Given the description of an element on the screen output the (x, y) to click on. 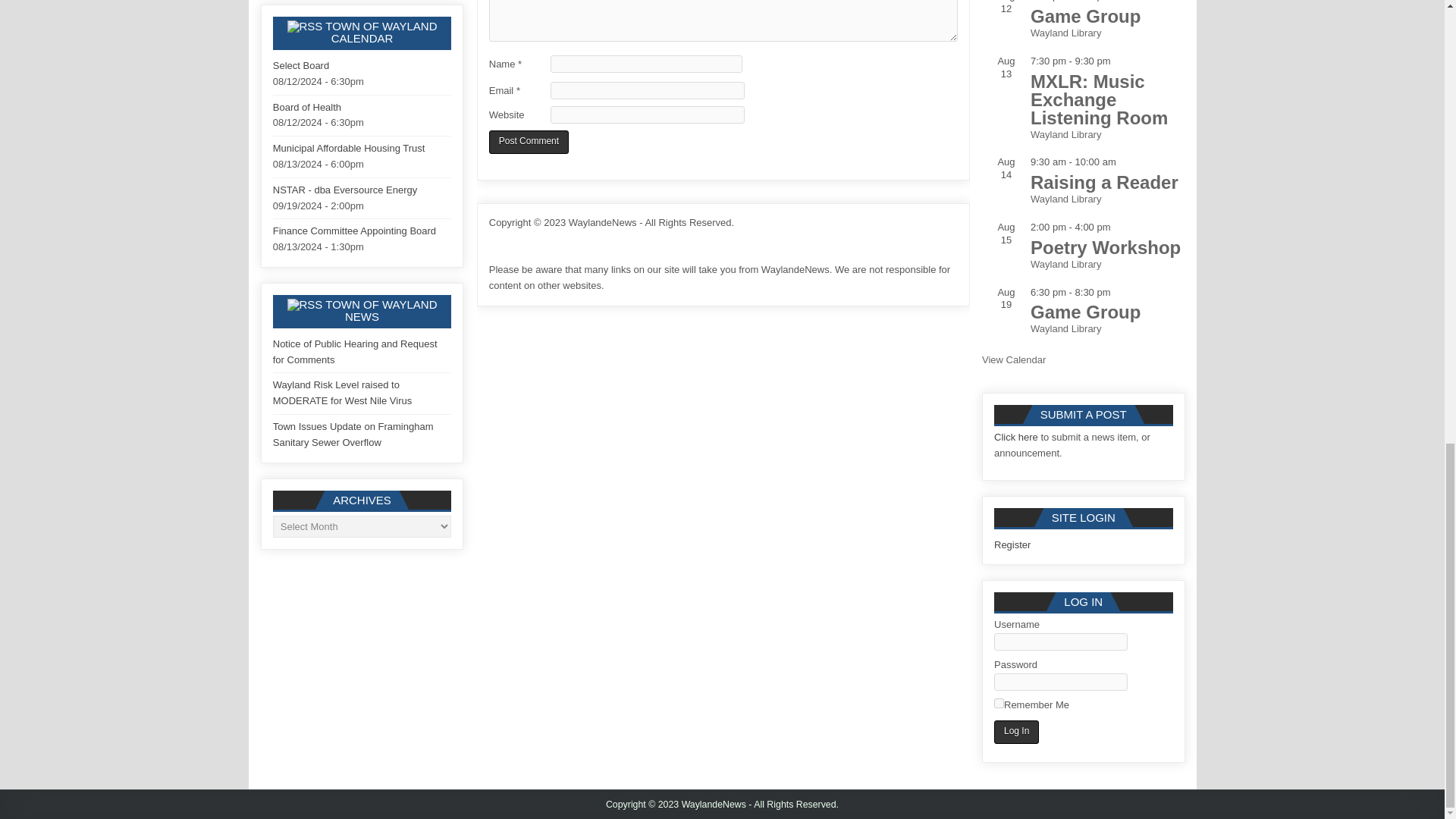
forever (999, 703)
Post Comment (529, 141)
Log In (1016, 731)
